Given the description of an element on the screen output the (x, y) to click on. 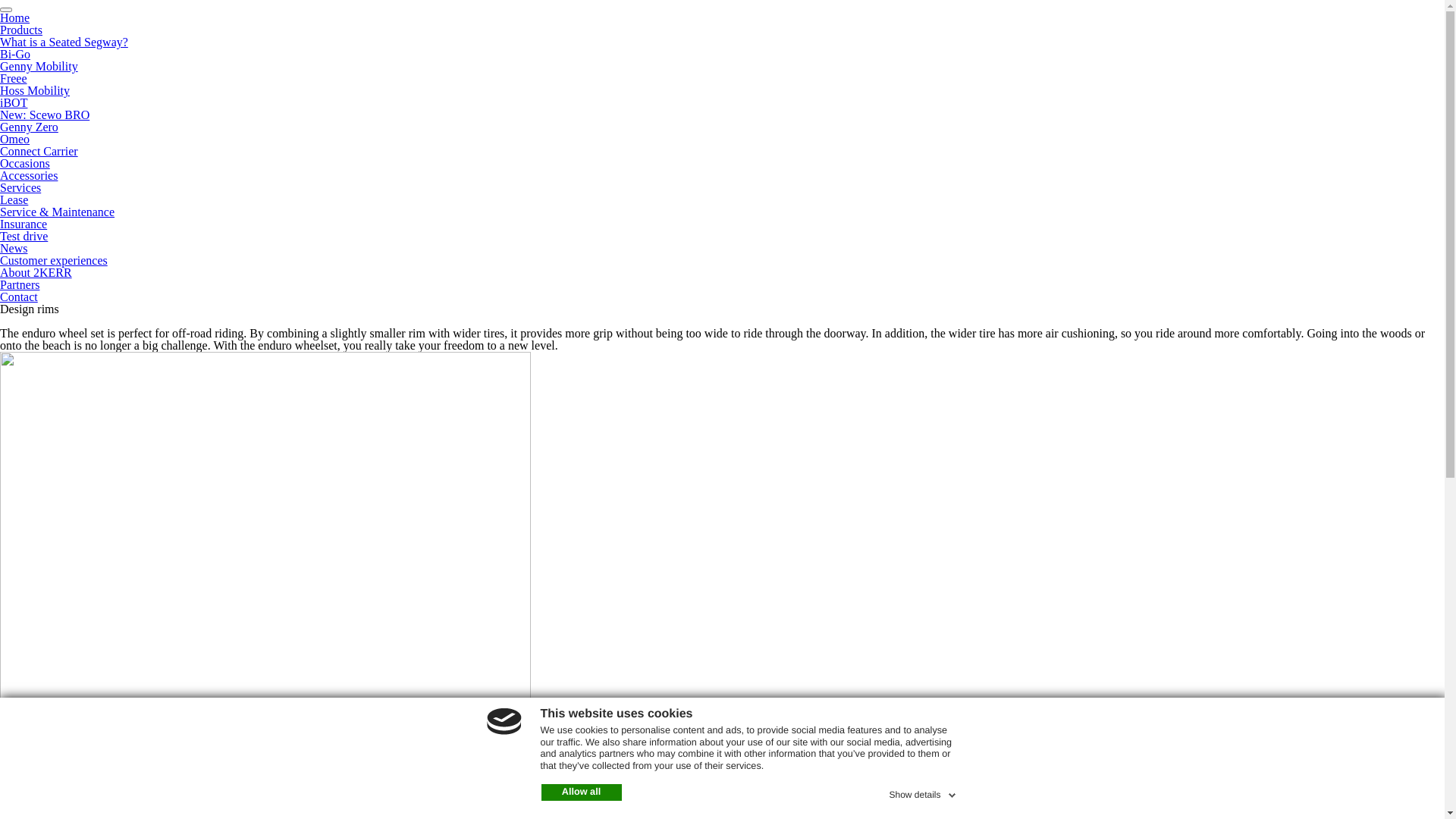
Services Element type: text (20, 187)
Partners Element type: text (19, 284)
Customer experiences Element type: text (53, 260)
Products Element type: text (21, 29)
Contact Element type: text (18, 296)
Connect Carrier Element type: text (39, 150)
Bi-Go Element type: text (15, 53)
New: Scewo BRO Element type: text (44, 114)
Insurance Element type: text (23, 223)
Service & Maintenance Element type: text (57, 211)
Freee Element type: text (13, 78)
iBOT Element type: text (13, 102)
Occasions Element type: text (25, 162)
Show details Element type: text (923, 792)
News Element type: text (13, 247)
Test drive Element type: text (23, 235)
Accessories Element type: text (28, 175)
Omeo Element type: text (14, 138)
About 2KERR Element type: text (36, 272)
Genny Mobility Element type: text (39, 65)
Allow all Element type: text (581, 792)
Home Element type: text (14, 17)
Genny Zero Element type: text (29, 126)
What is a Seated Segway? Element type: text (64, 41)
Lease Element type: text (14, 199)
Hoss Mobility Element type: text (34, 90)
